Given the description of an element on the screen output the (x, y) to click on. 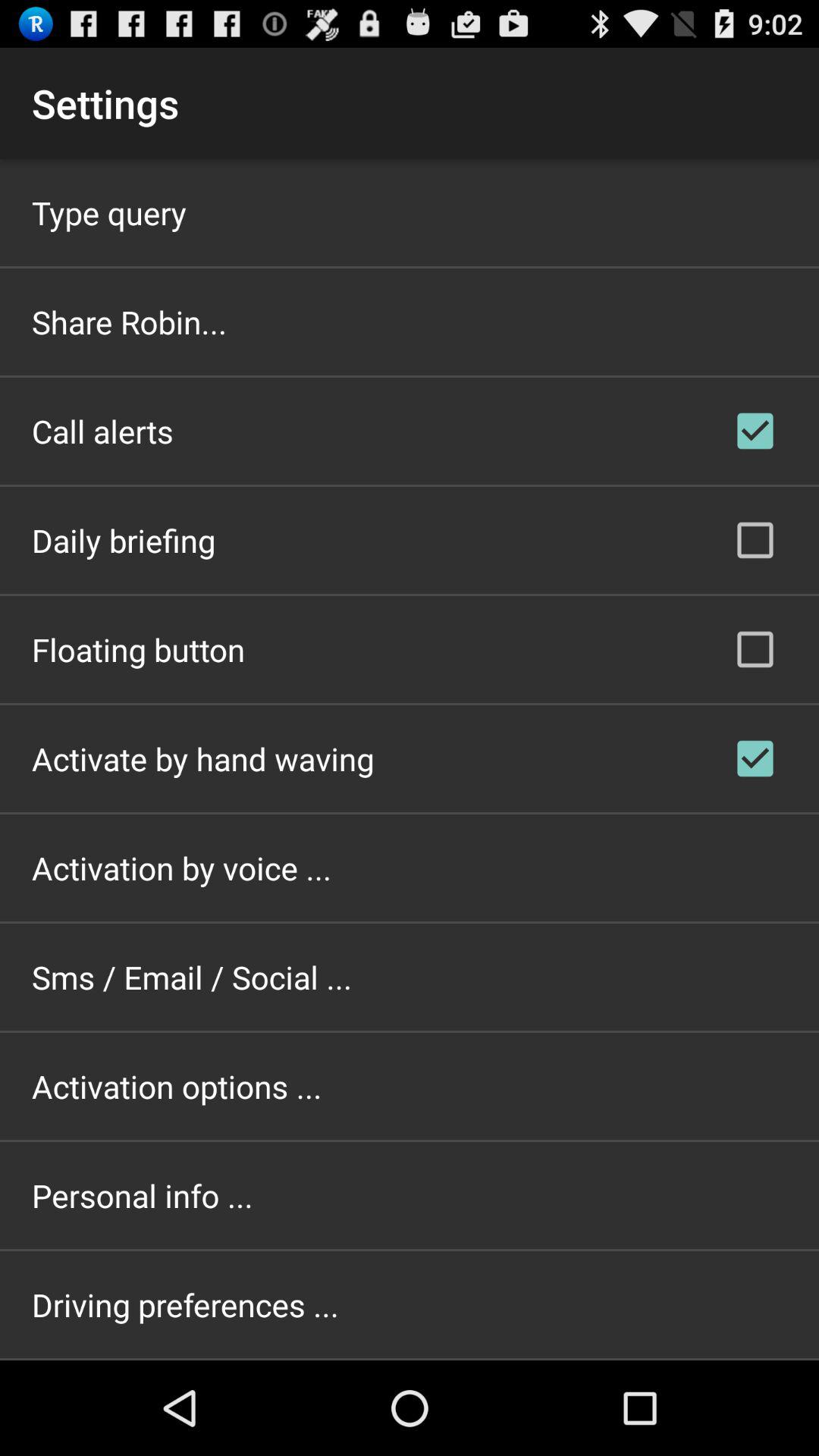
choose the icon above the activation by voice ... app (202, 758)
